Given the description of an element on the screen output the (x, y) to click on. 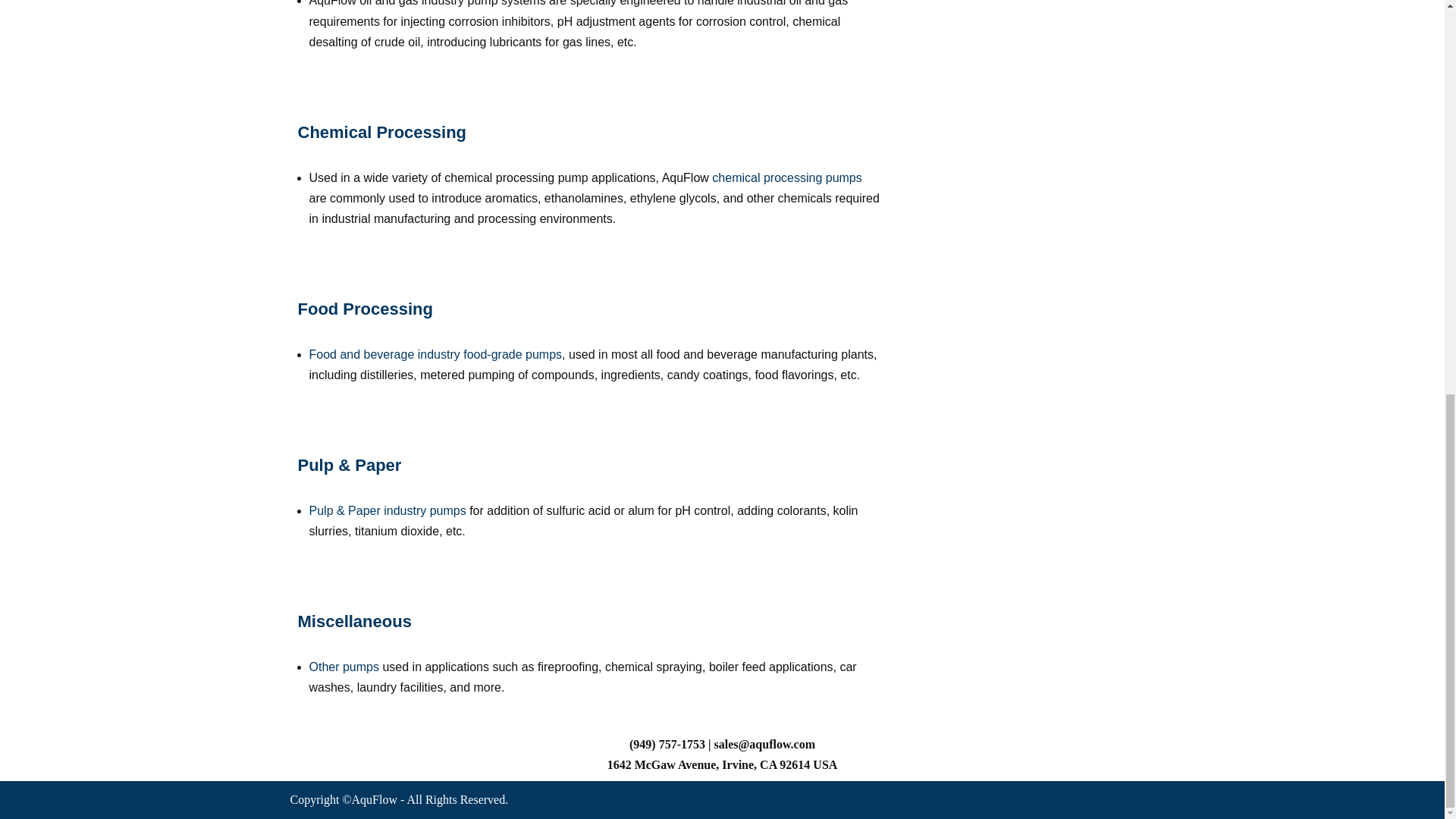
Chemical Processing Pumps (786, 177)
Food Processing Pumps (364, 308)
Chemical Processing Pumps (381, 131)
